Given the description of an element on the screen output the (x, y) to click on. 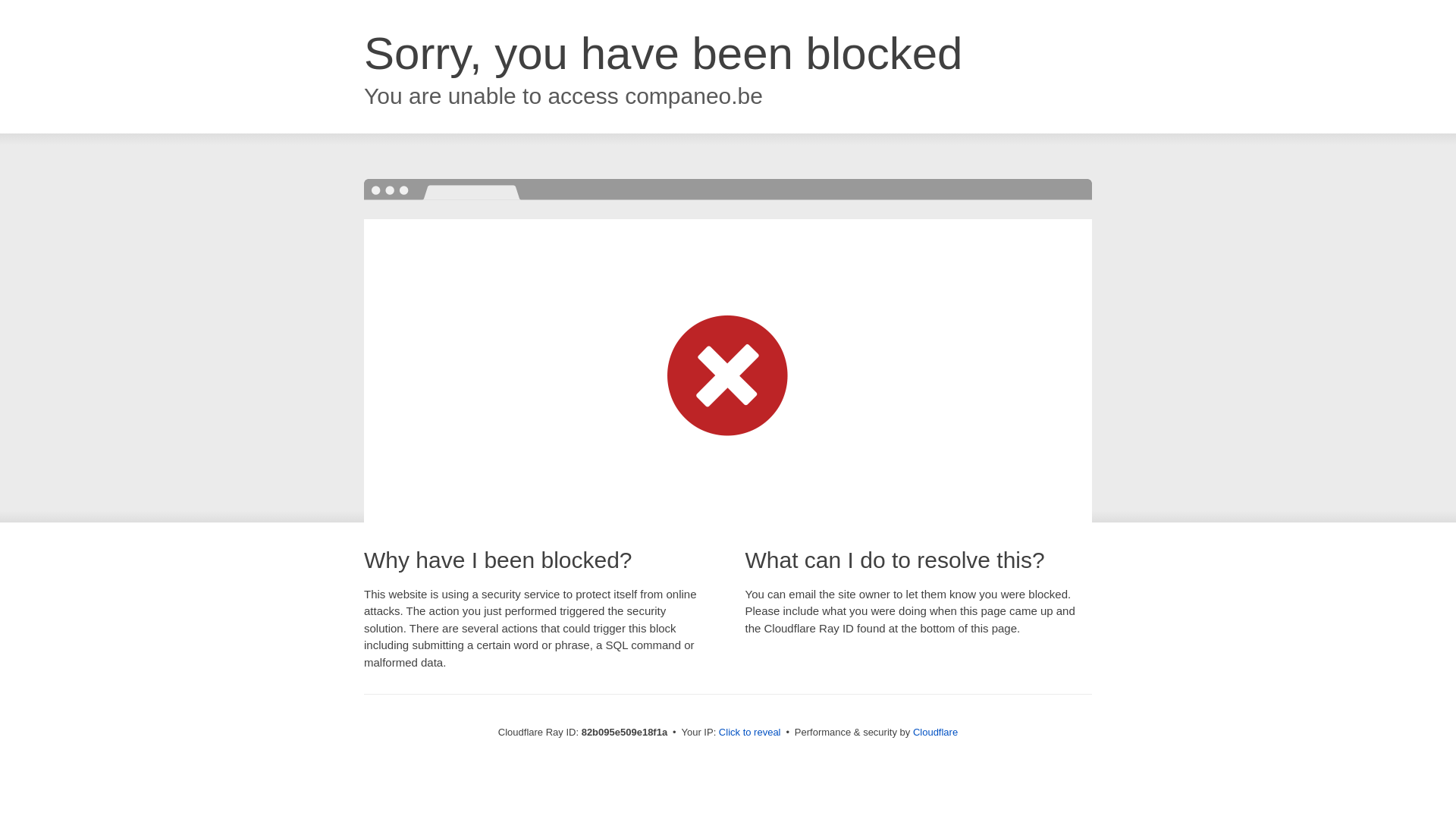
Cloudflare Element type: text (935, 731)
Click to reveal Element type: text (749, 732)
